Given the description of an element on the screen output the (x, y) to click on. 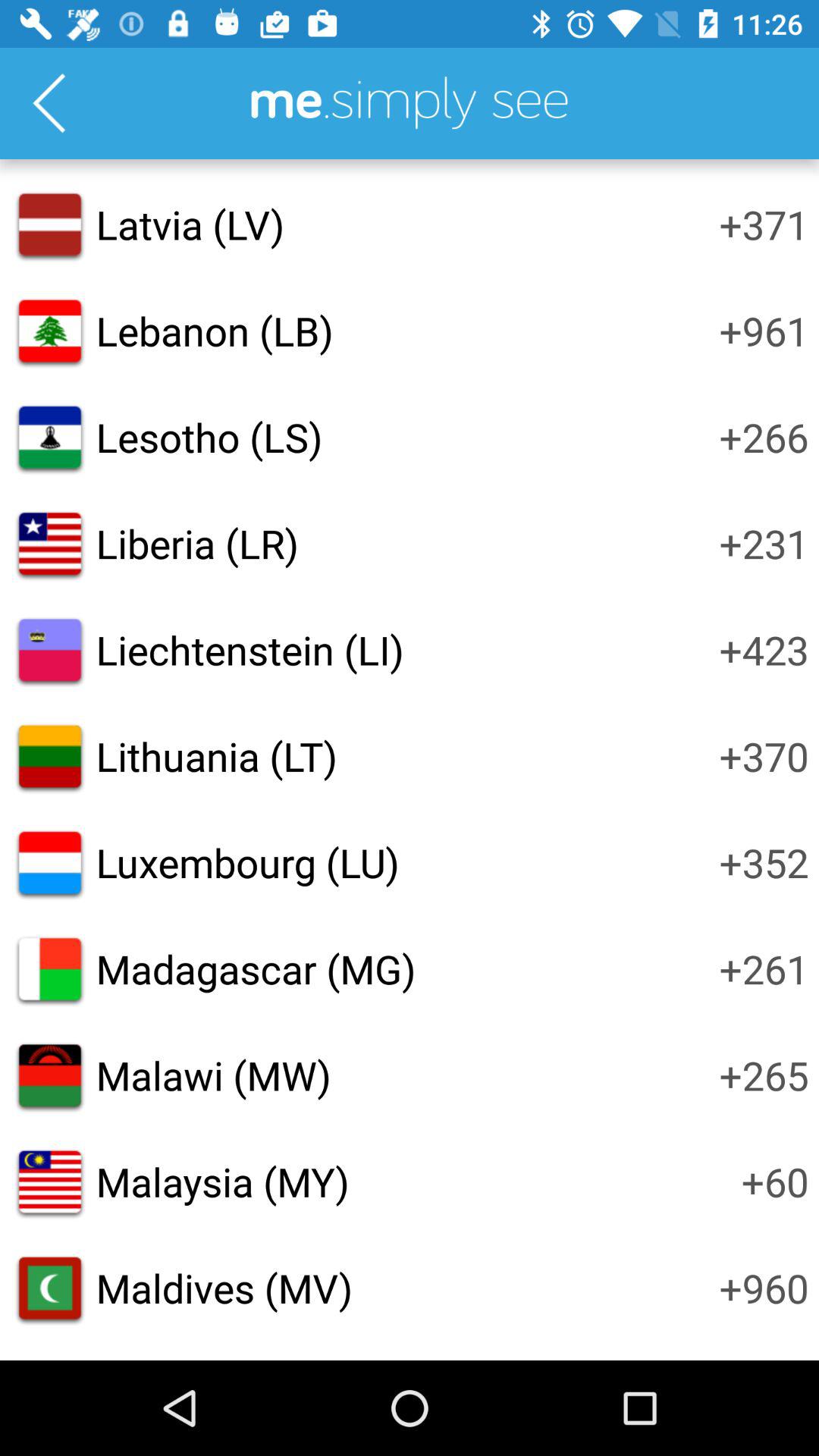
flip until +370 (763, 755)
